Given the description of an element on the screen output the (x, y) to click on. 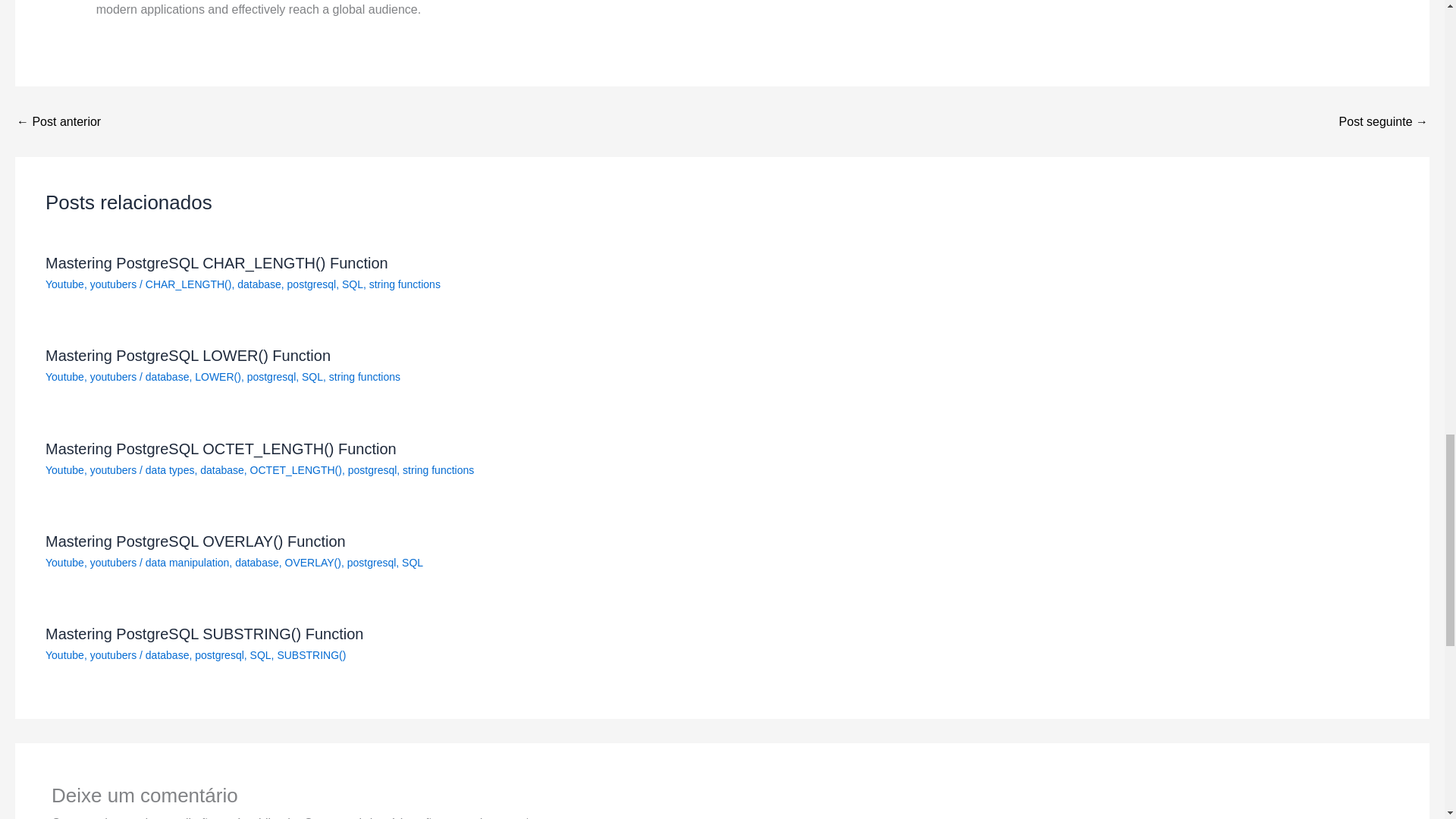
Youtube (64, 377)
youtubers (113, 562)
data types (170, 469)
data manipulation (187, 562)
SQL (312, 377)
SQL (352, 284)
database (256, 562)
Youtube (64, 284)
string functions (405, 284)
postgresql (372, 469)
